Given the description of an element on the screen output the (x, y) to click on. 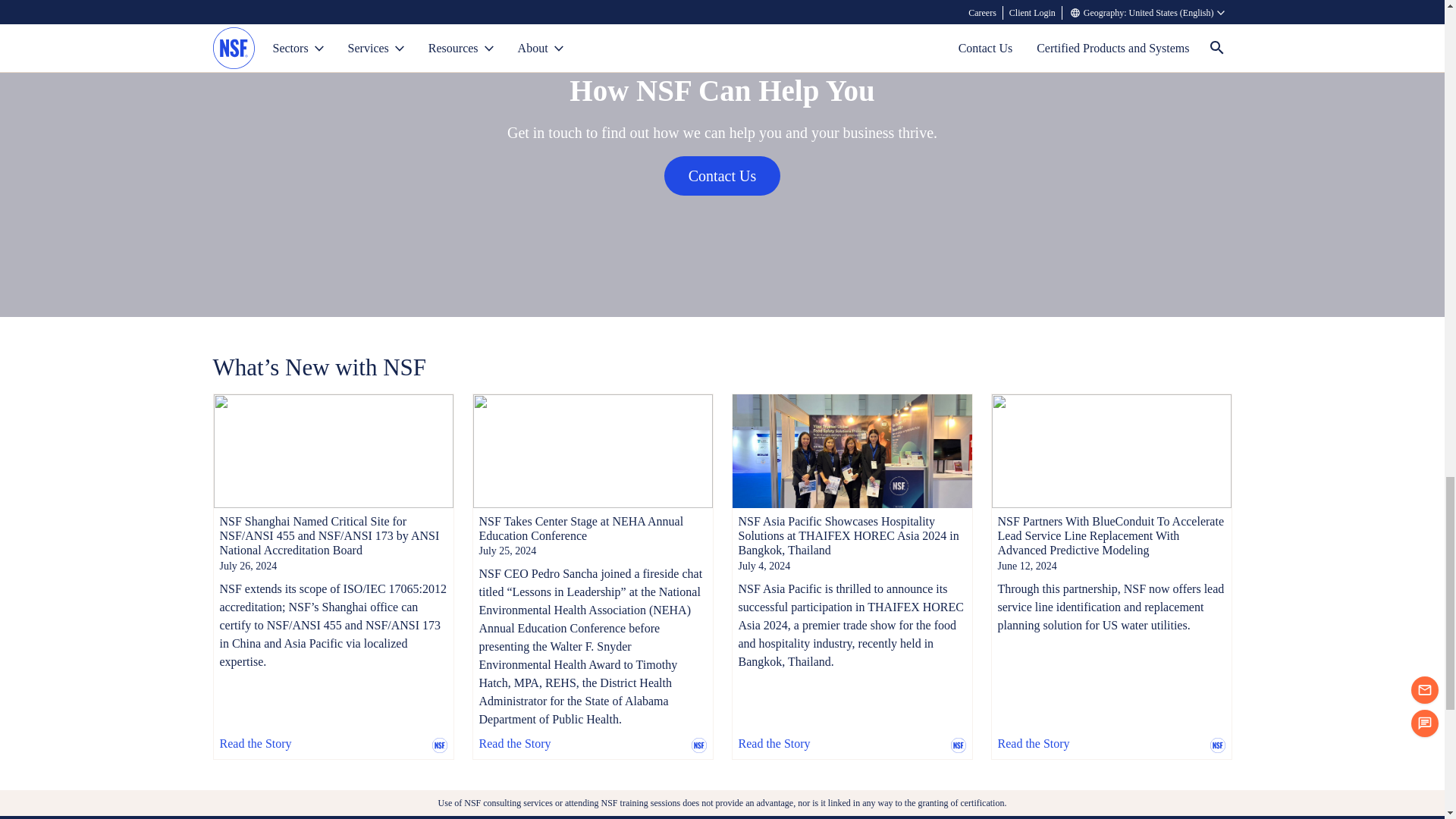
Contact Us (721, 175)
